Given the description of an element on the screen output the (x, y) to click on. 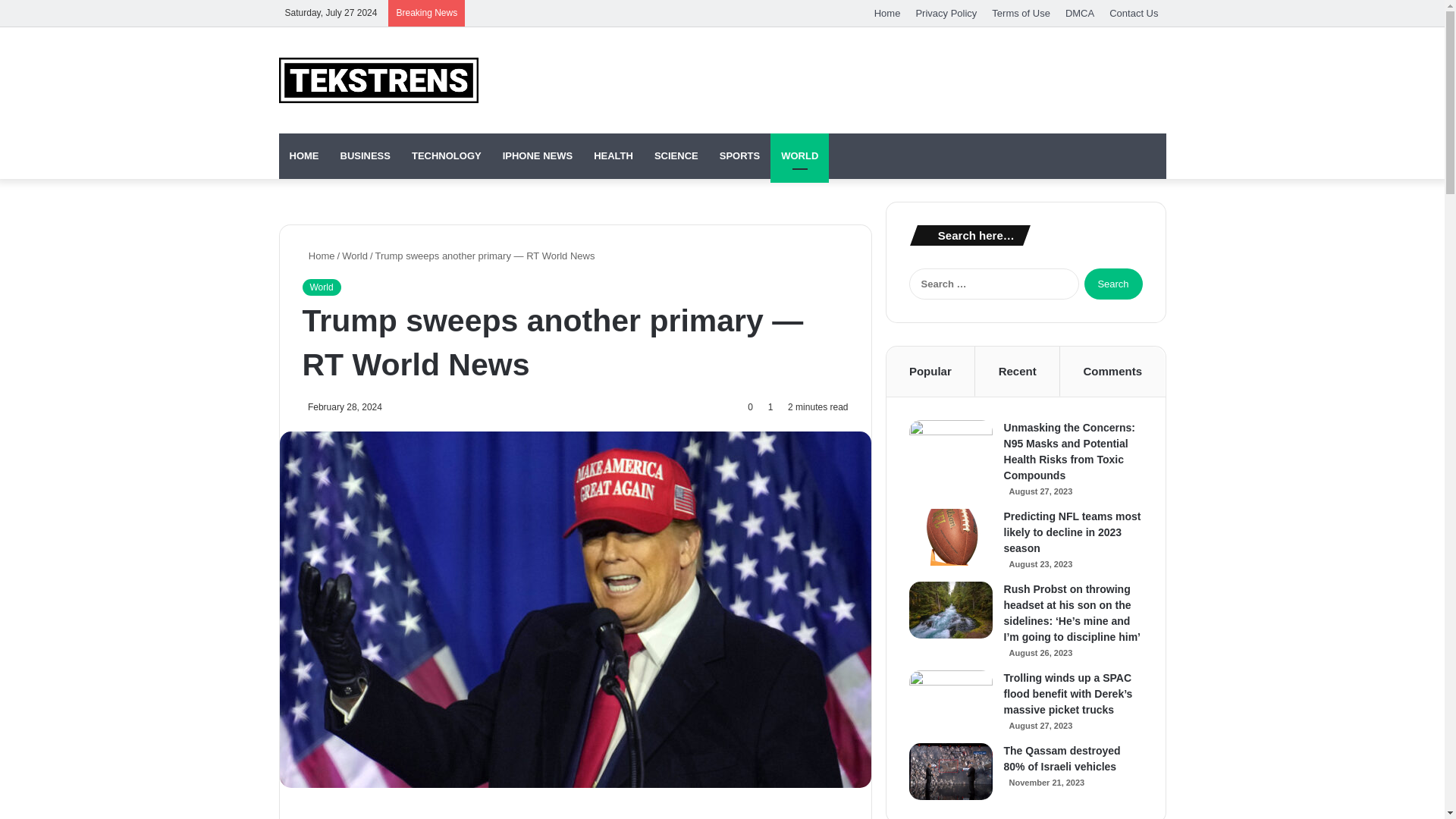
Home (317, 255)
World (355, 255)
Contact Us (1134, 13)
HEALTH (613, 156)
WORLD (799, 156)
Search (1113, 283)
SPORTS (739, 156)
Home (887, 13)
IPHONE NEWS (537, 156)
HOME (304, 156)
Tekstrens (379, 80)
SCIENCE (676, 156)
BUSINESS (364, 156)
World (320, 287)
Privacy Policy (945, 13)
